Given the description of an element on the screen output the (x, y) to click on. 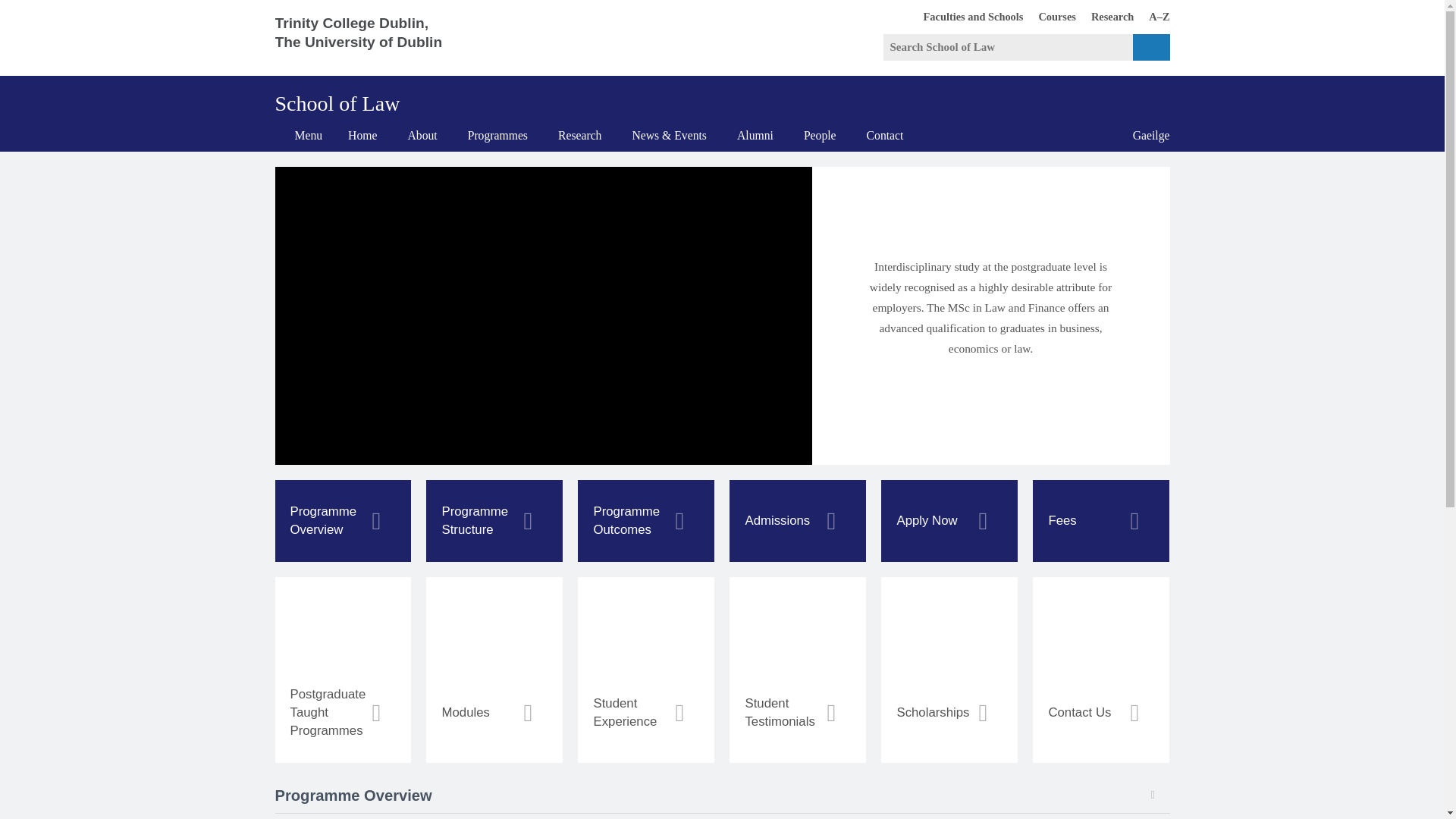
About (421, 135)
School of Law (336, 98)
Menu (298, 135)
Faculties and Schools (965, 15)
Trinity College Dublin, The University of Dublin (370, 38)
People (820, 135)
Contact (884, 135)
Gaeilge (1104, 15)
Home (1144, 135)
